Given the description of an element on the screen output the (x, y) to click on. 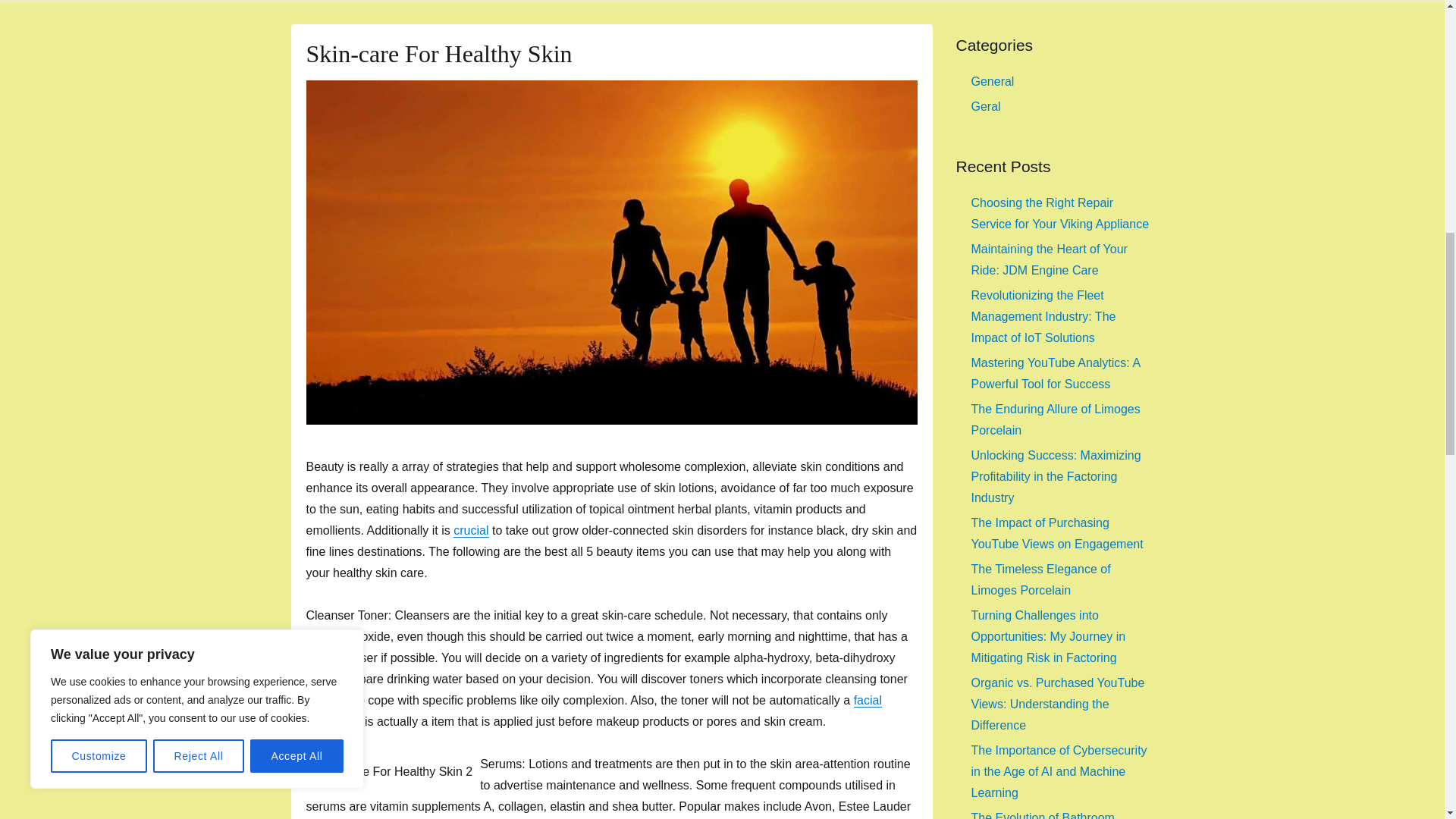
The Enduring Allure of Limoges Porcelain (1055, 419)
Choosing the Right Repair Service for Your Viking Appliance (1059, 213)
Mastering YouTube Analytics: A Powerful Tool for Success (1055, 373)
Geral (985, 106)
Maintaining the Heart of Your Ride: JDM Engine Care (1048, 259)
crucial (469, 530)
General (992, 81)
facial cleanser (593, 710)
